Given the description of an element on the screen output the (x, y) to click on. 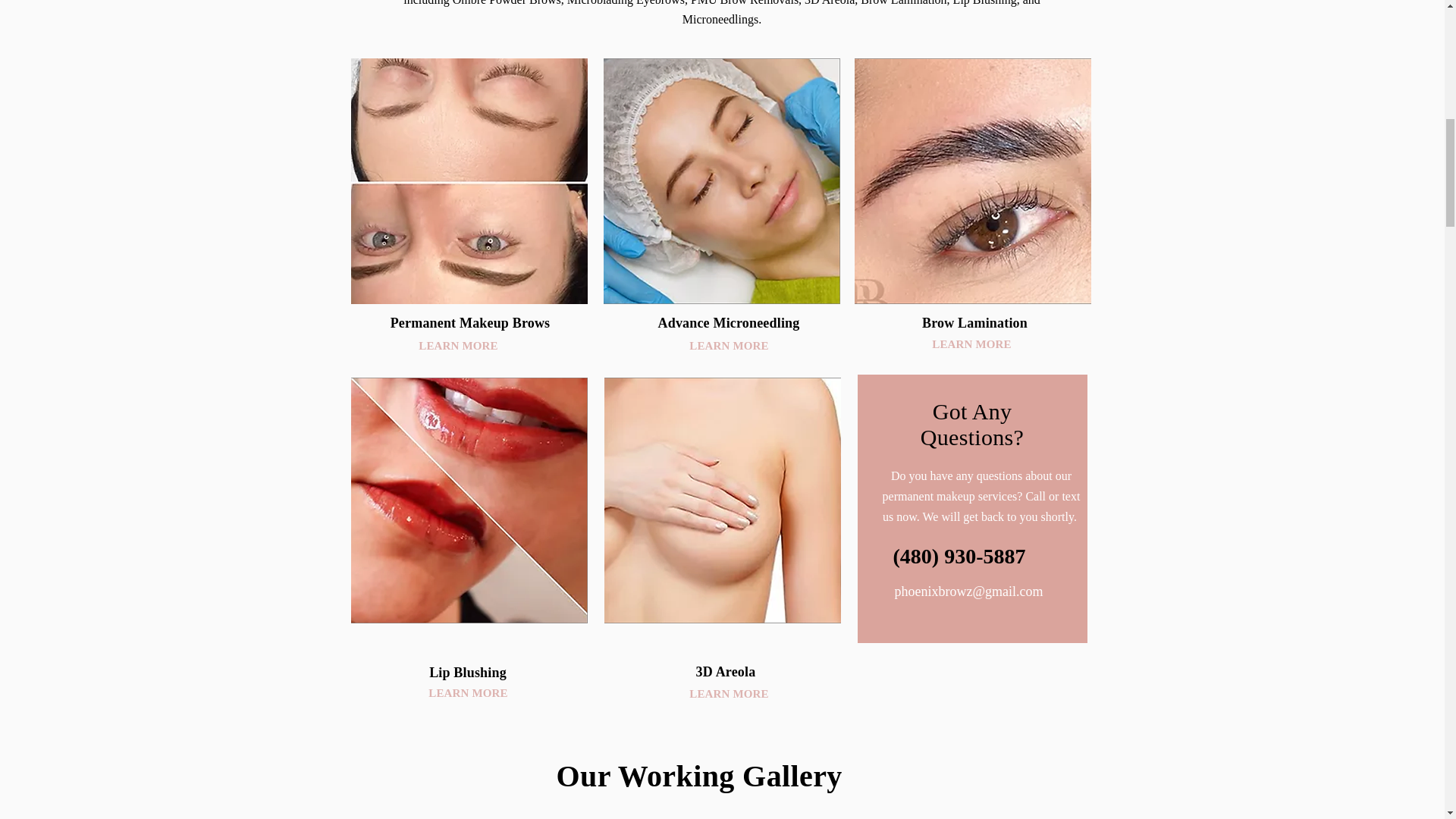
LEARN MORE (467, 692)
LEARN MORE (728, 693)
Lip Blushing (467, 672)
Permanent Makeup Brows (470, 322)
LEARN MORE (970, 343)
LEARN MORE (728, 345)
LEARN MORE (458, 345)
Advance Microneedling (728, 322)
3D Areola (725, 671)
Brow Lamination (974, 322)
